Given the description of an element on the screen output the (x, y) to click on. 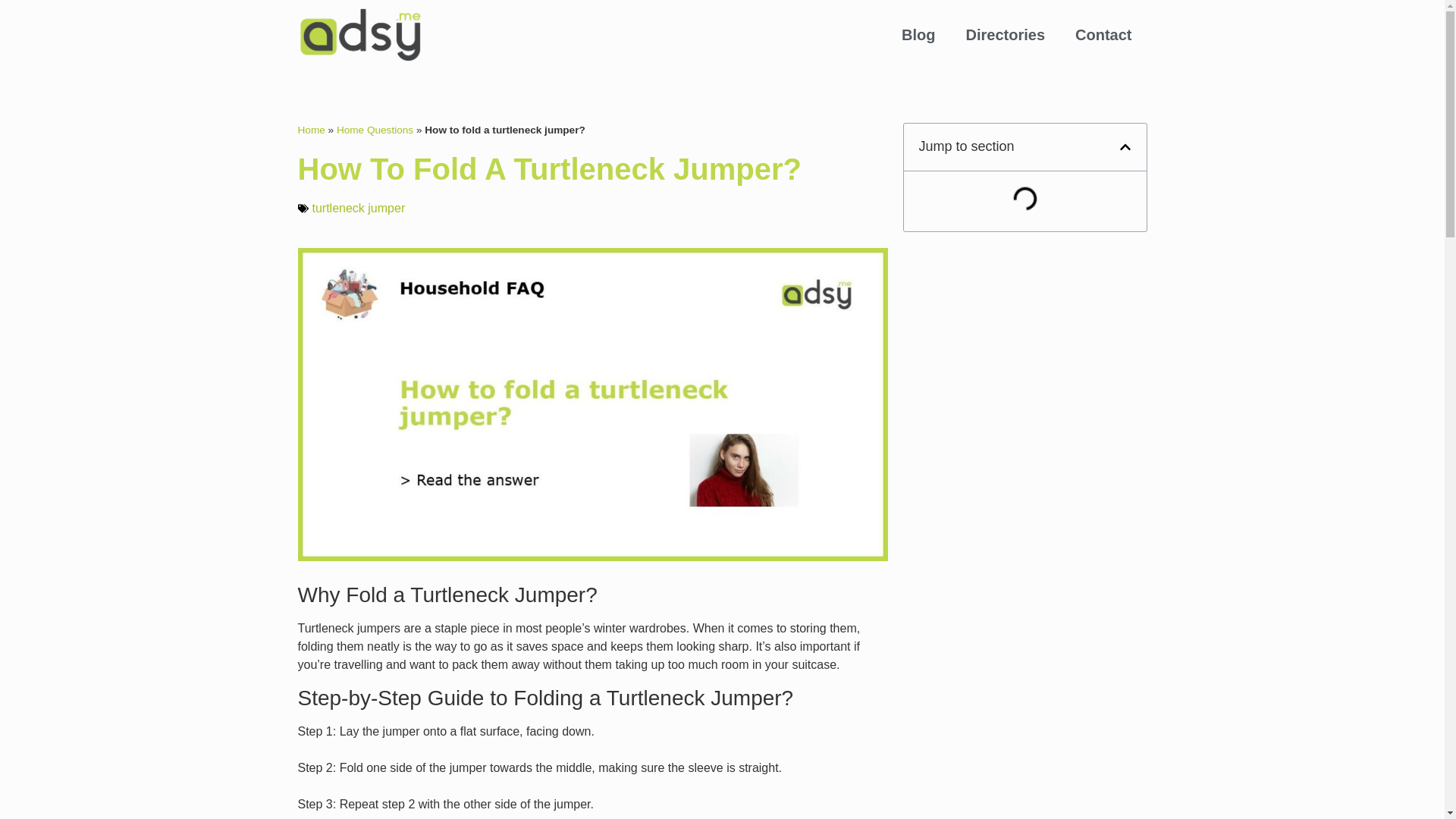
Directories (1005, 34)
Contact (1103, 34)
Blog (918, 34)
